Given the description of an element on the screen output the (x, y) to click on. 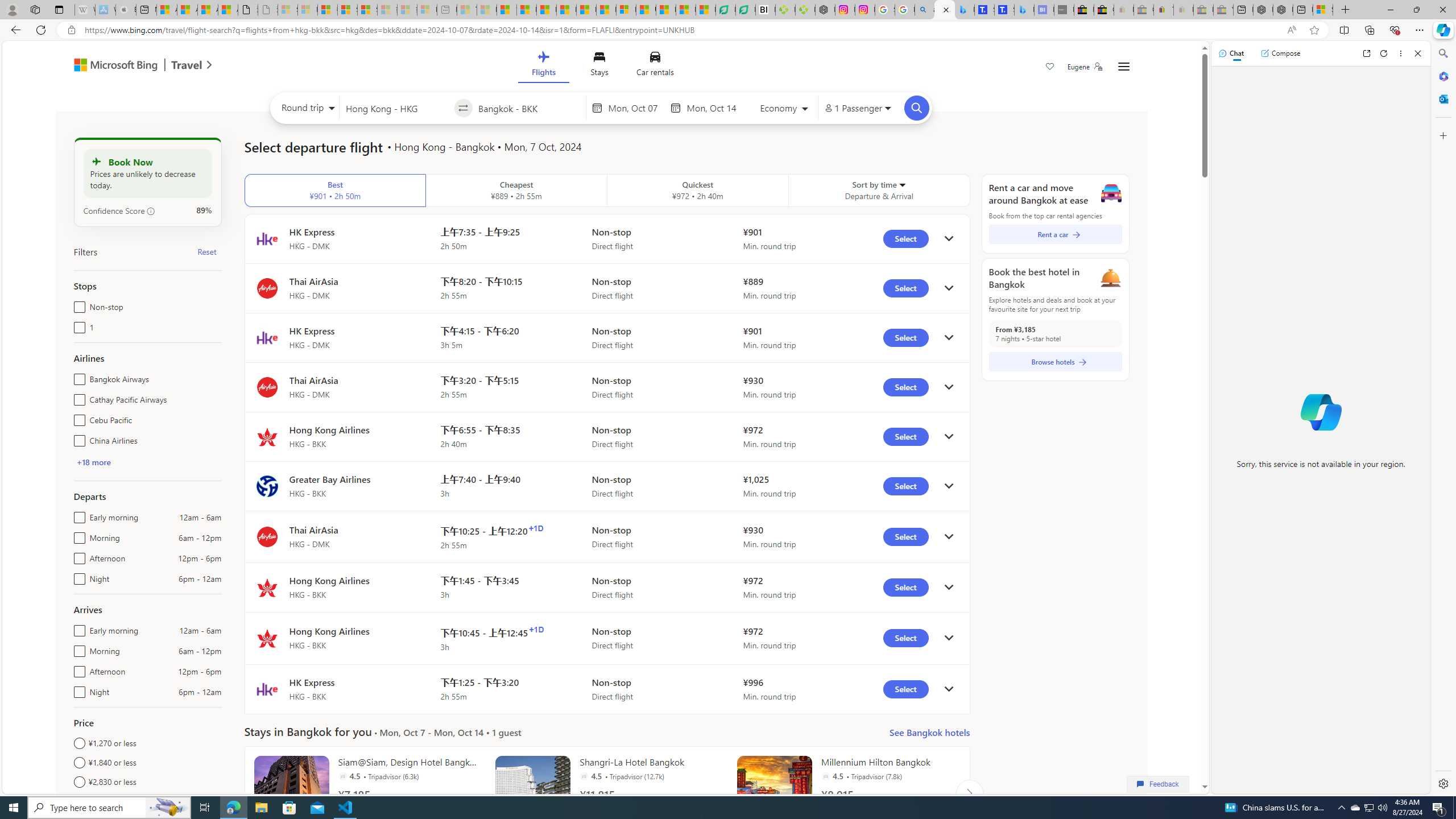
Class: msft-travel-logo (186, 64)
Microsoft account | Account Checkup - Sleeping (427, 9)
Marine life - MSN - Sleeping (486, 9)
Microsoft Bing (110, 65)
Cebu Pacific (76, 417)
Stays (598, 65)
+18 more (92, 461)
alabama high school quarterback dies - Search (924, 9)
Aberdeen, Hong Kong SAR severe weather | Microsoft Weather (227, 9)
Non-stop (76, 304)
Class: autosuggest-container full-height no-y-padding (528, 107)
